Given the description of an element on the screen output the (x, y) to click on. 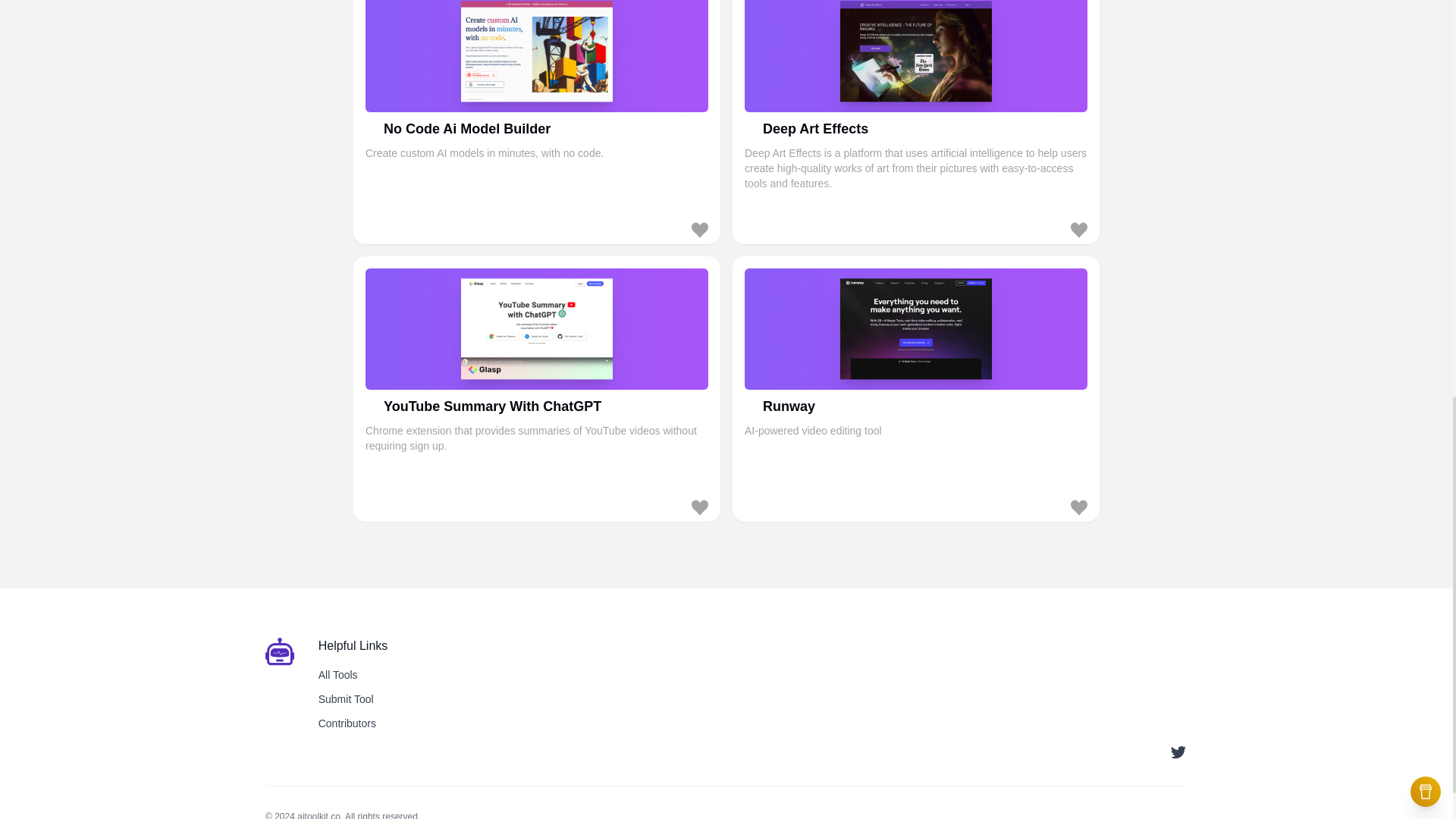
Contributors (346, 723)
Submit Tool (346, 698)
All Tools (915, 387)
Twitter (338, 674)
